Given the description of an element on the screen output the (x, y) to click on. 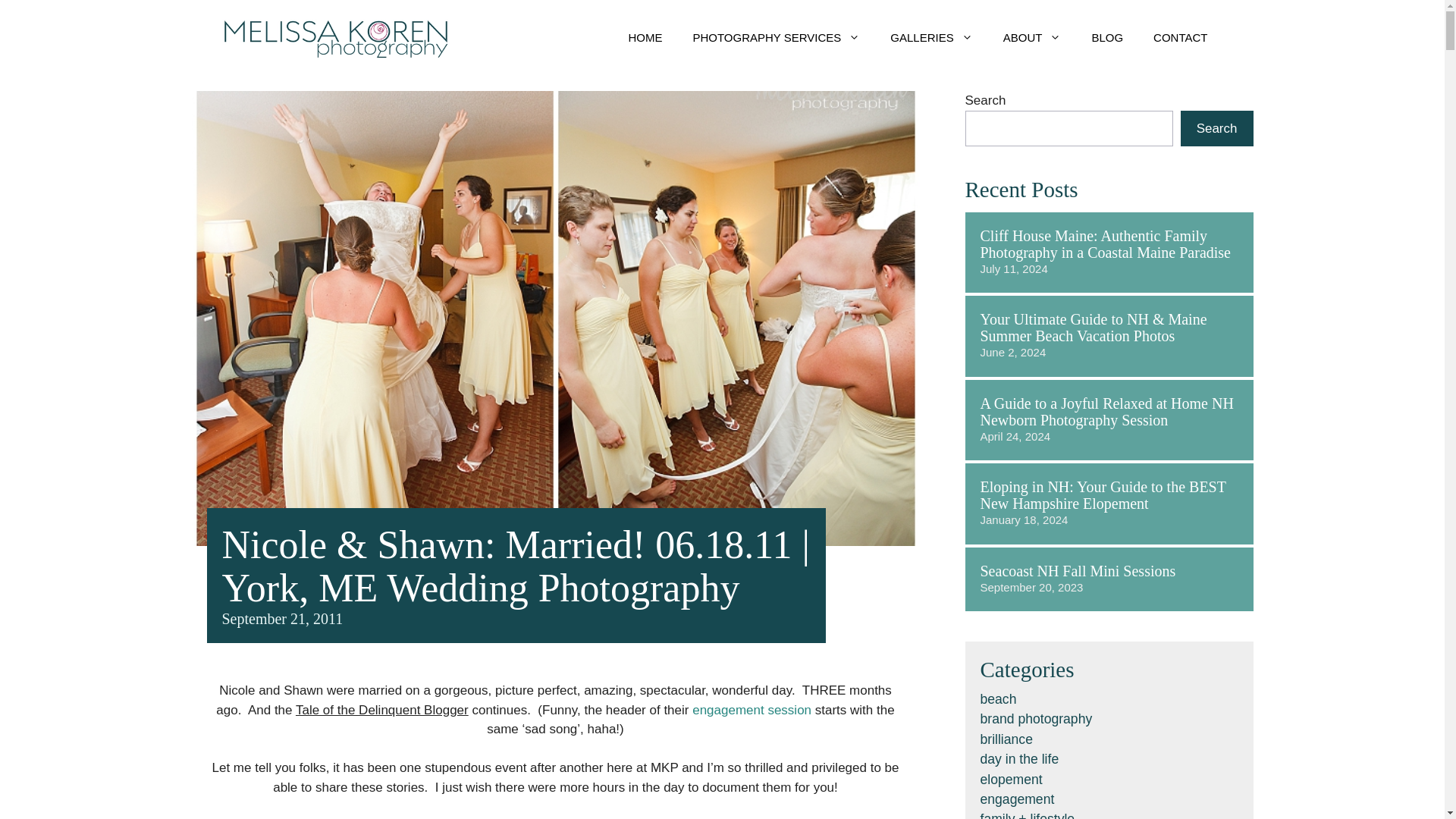
elopement (1010, 779)
PHOTOGRAPHY SERVICES (776, 37)
engagement (1016, 798)
HOME (644, 37)
ABOUT (1032, 37)
CONTACT (1180, 37)
GALLERIES (931, 37)
brand photography (1035, 718)
brilliance (1005, 739)
beach (997, 698)
day in the life (1018, 758)
engagement session (751, 709)
BLOG (1106, 37)
Search (1216, 128)
